Given the description of an element on the screen output the (x, y) to click on. 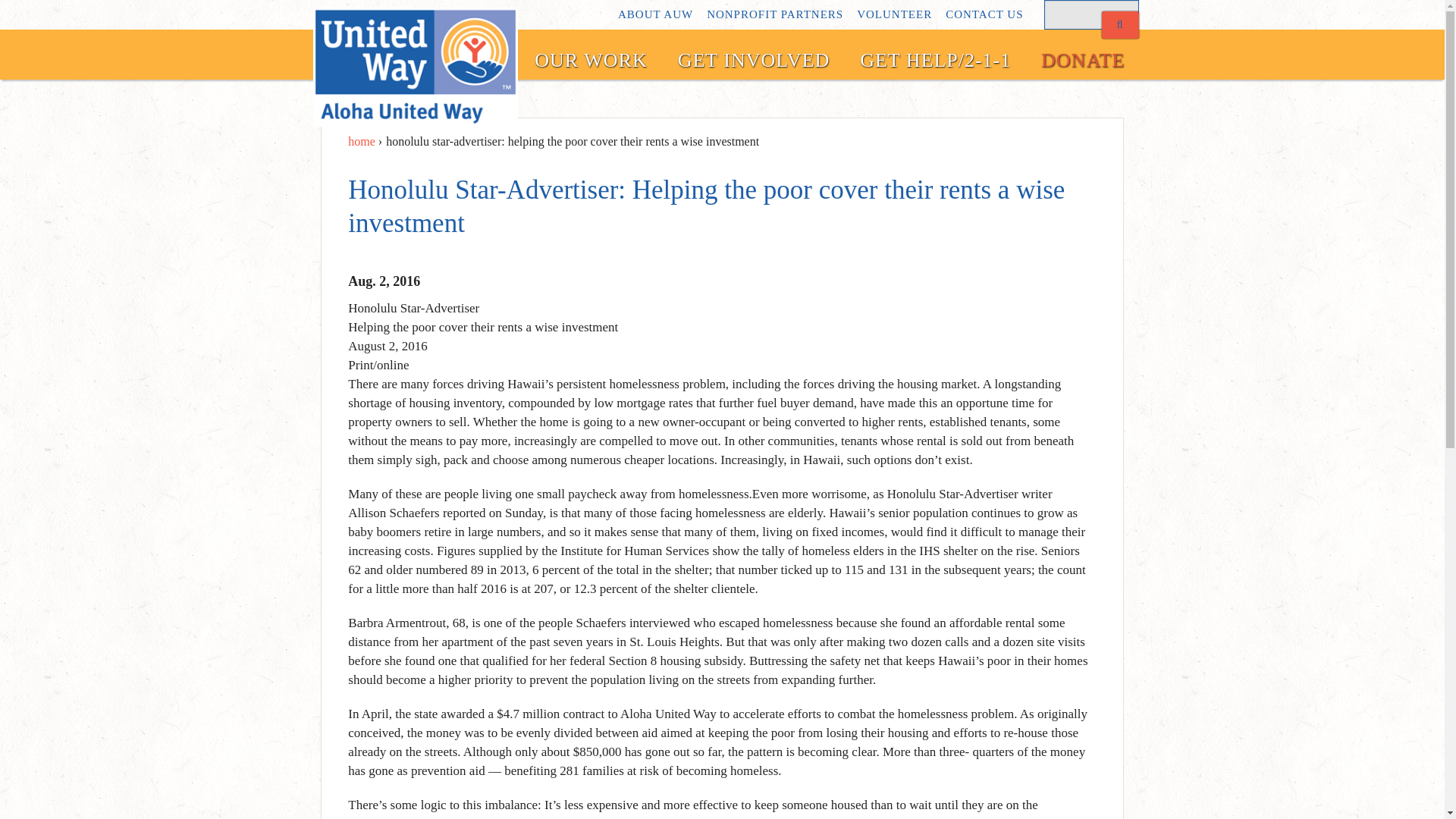
Enter the terms you wish to search for. (1090, 14)
Home (414, 73)
CONTACT US (983, 14)
NONPROFIT PARTNERS (774, 14)
GET INVOLVED (753, 60)
DONATE (1083, 60)
ABOUT AUW (655, 14)
VOLUNTEER (894, 14)
OUR WORK (590, 60)
